Given the description of an element on the screen output the (x, y) to click on. 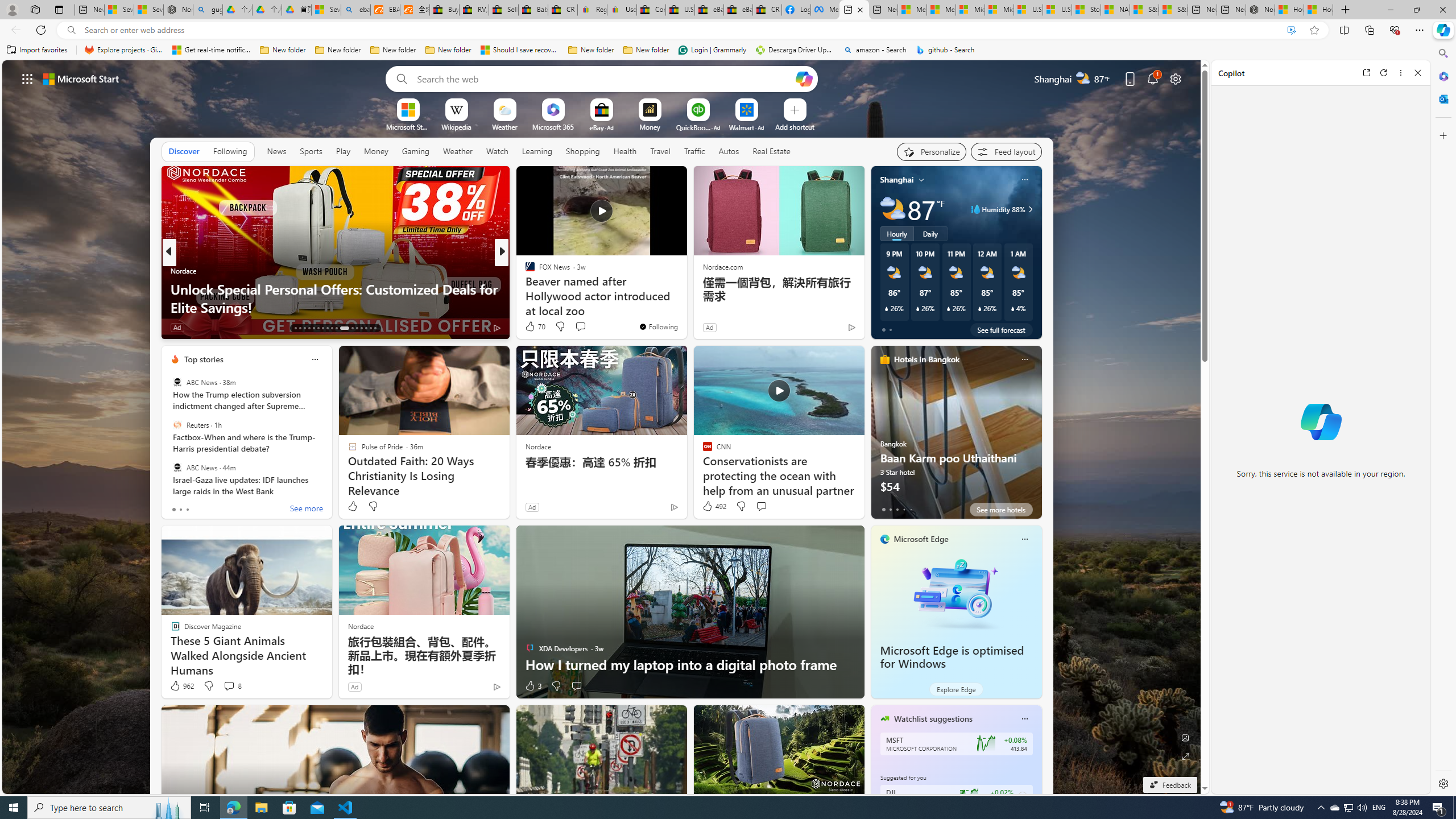
Address and search bar (680, 29)
View comments 24 Comment (585, 327)
AutomationID: tab-21 (331, 328)
Partly cloudy (892, 208)
Favorites bar (715, 49)
Explore Edge (955, 689)
Microsoft 365 (553, 126)
Register: Create a personal eBay account (591, 9)
AutomationID: tab-34 (370, 328)
Edit Background (1185, 737)
View comments 6 Comment (580, 327)
